Given the description of an element on the screen output the (x, y) to click on. 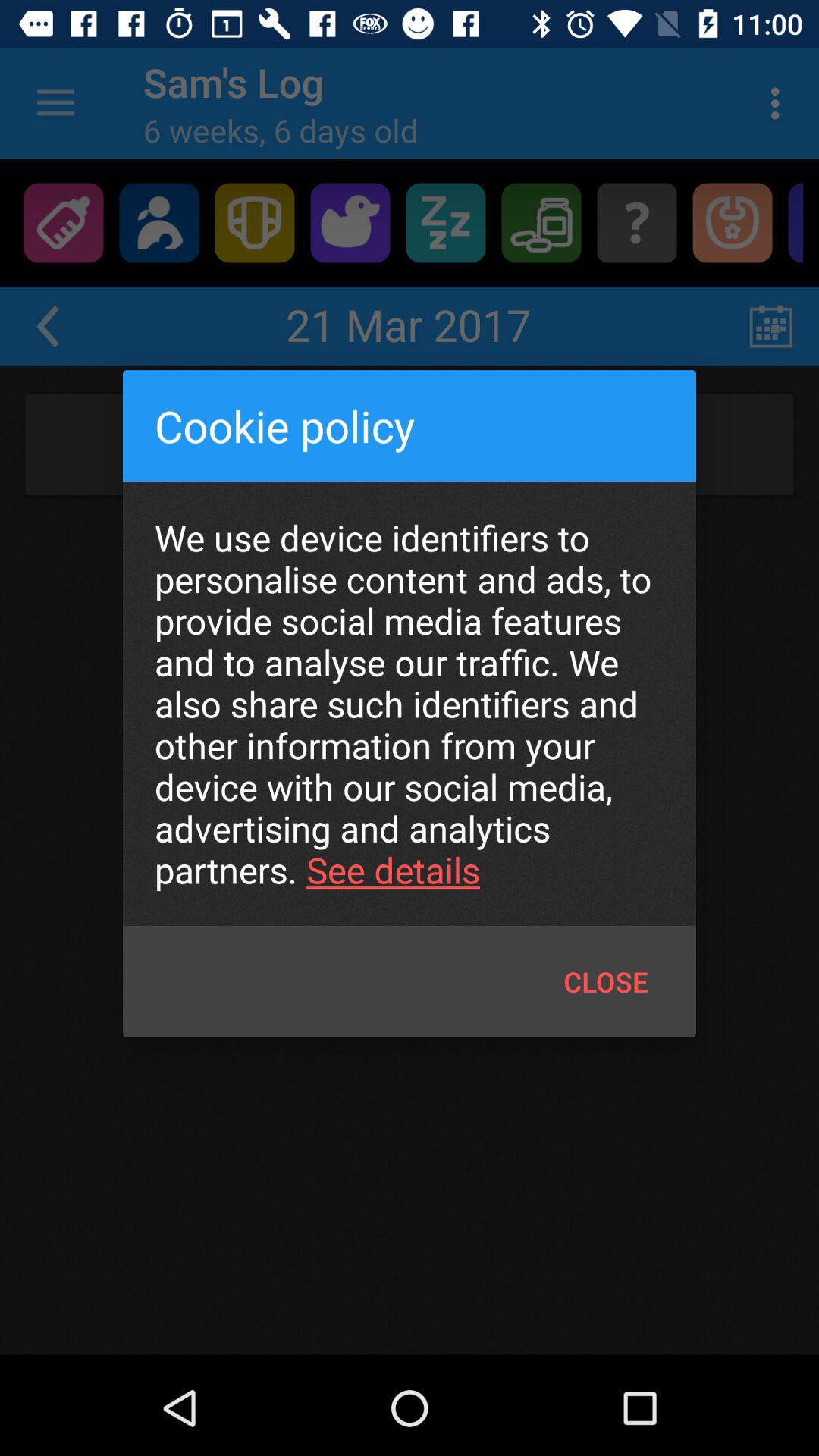
select item at the center (409, 703)
